Given the description of an element on the screen output the (x, y) to click on. 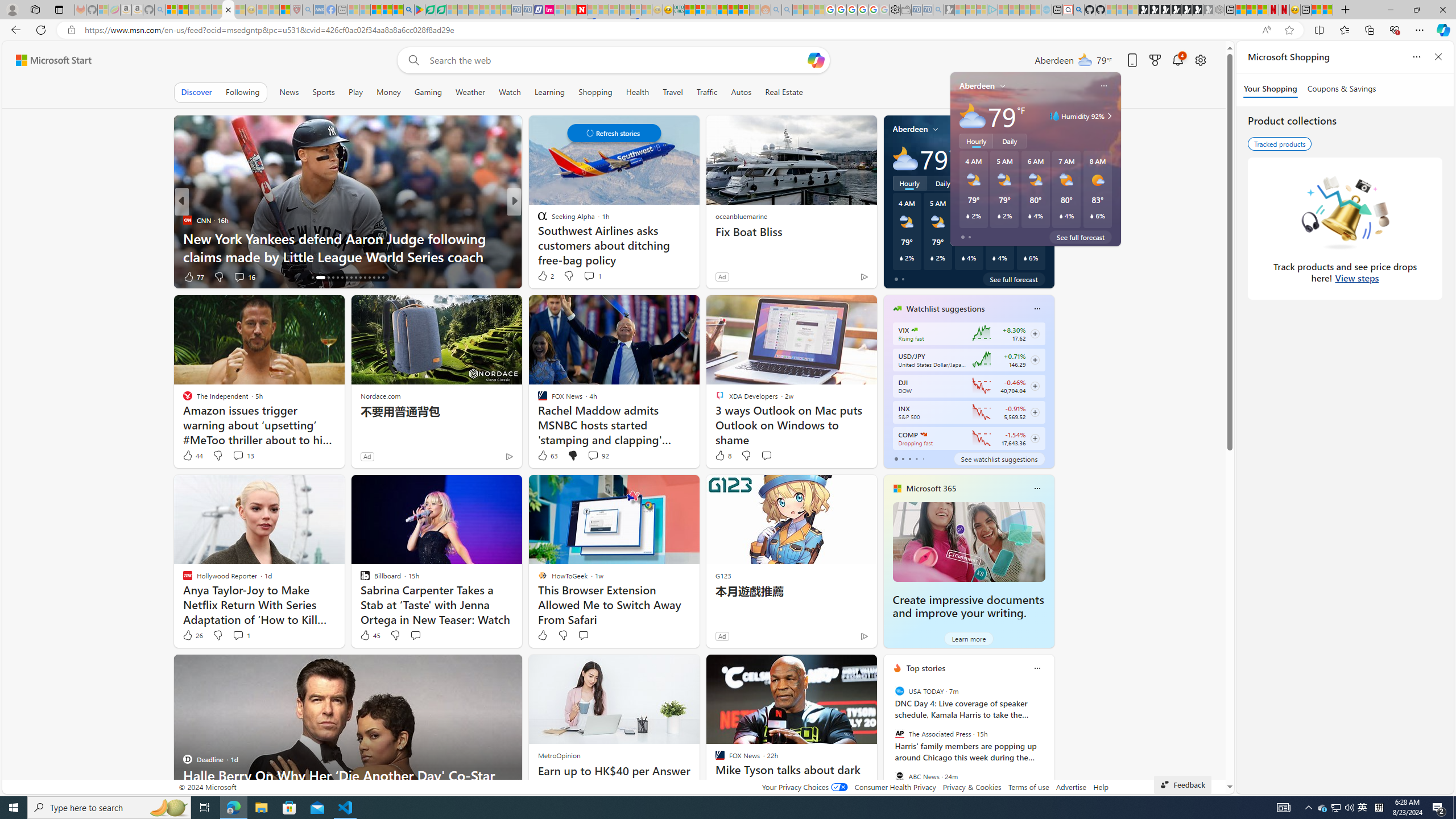
63 Like (546, 455)
Allrecipes (537, 219)
AutomationID: tab-21 (342, 277)
125 Like (545, 276)
Marie Claire UK (537, 219)
